Given the description of an element on the screen output the (x, y) to click on. 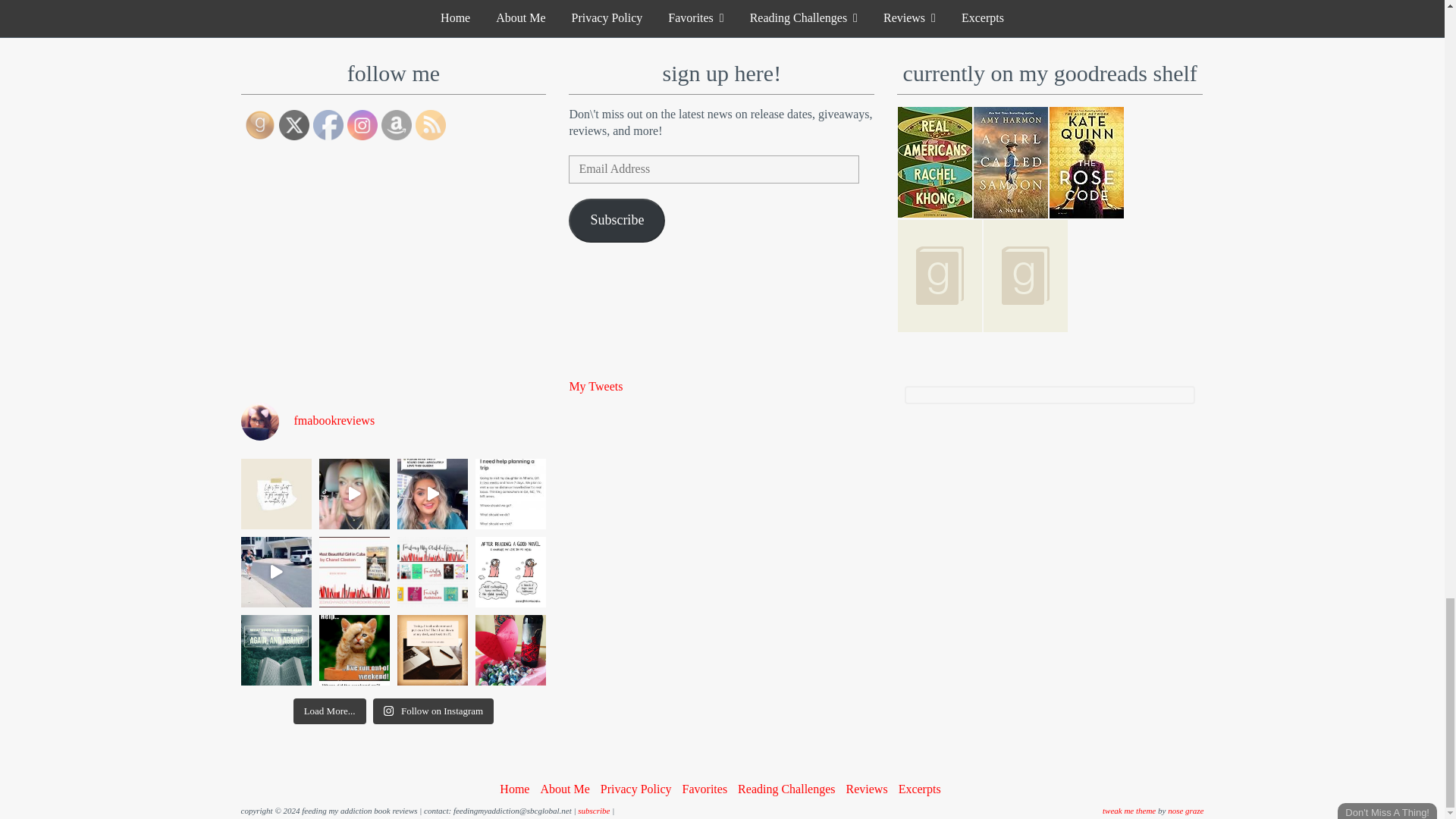
Instagram (362, 124)
Twitter (293, 124)
Facebook (327, 124)
Goodreads (259, 124)
